Given the description of an element on the screen output the (x, y) to click on. 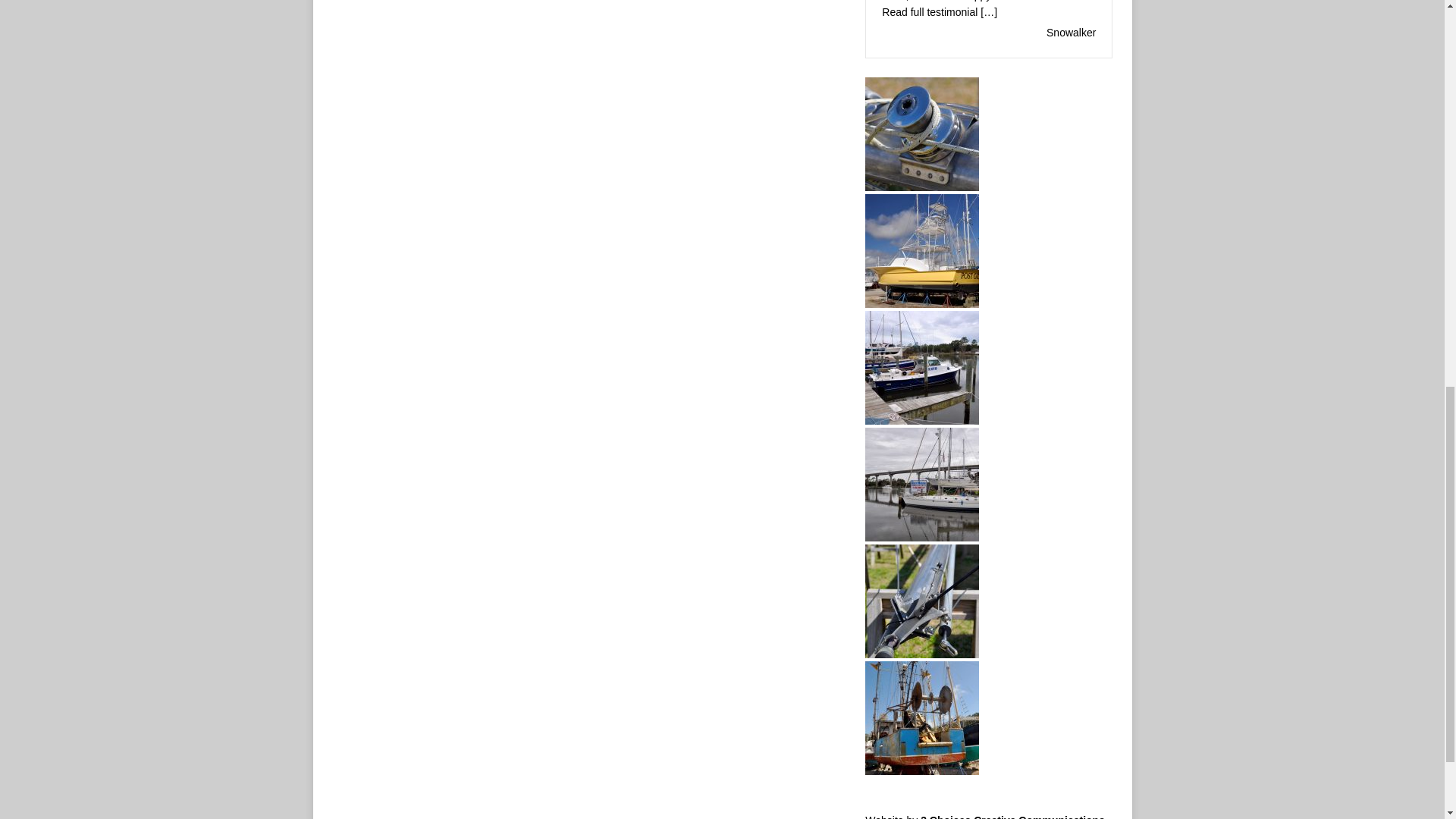
3 Choices Creative Communications (1012, 816)
